Given the description of an element on the screen output the (x, y) to click on. 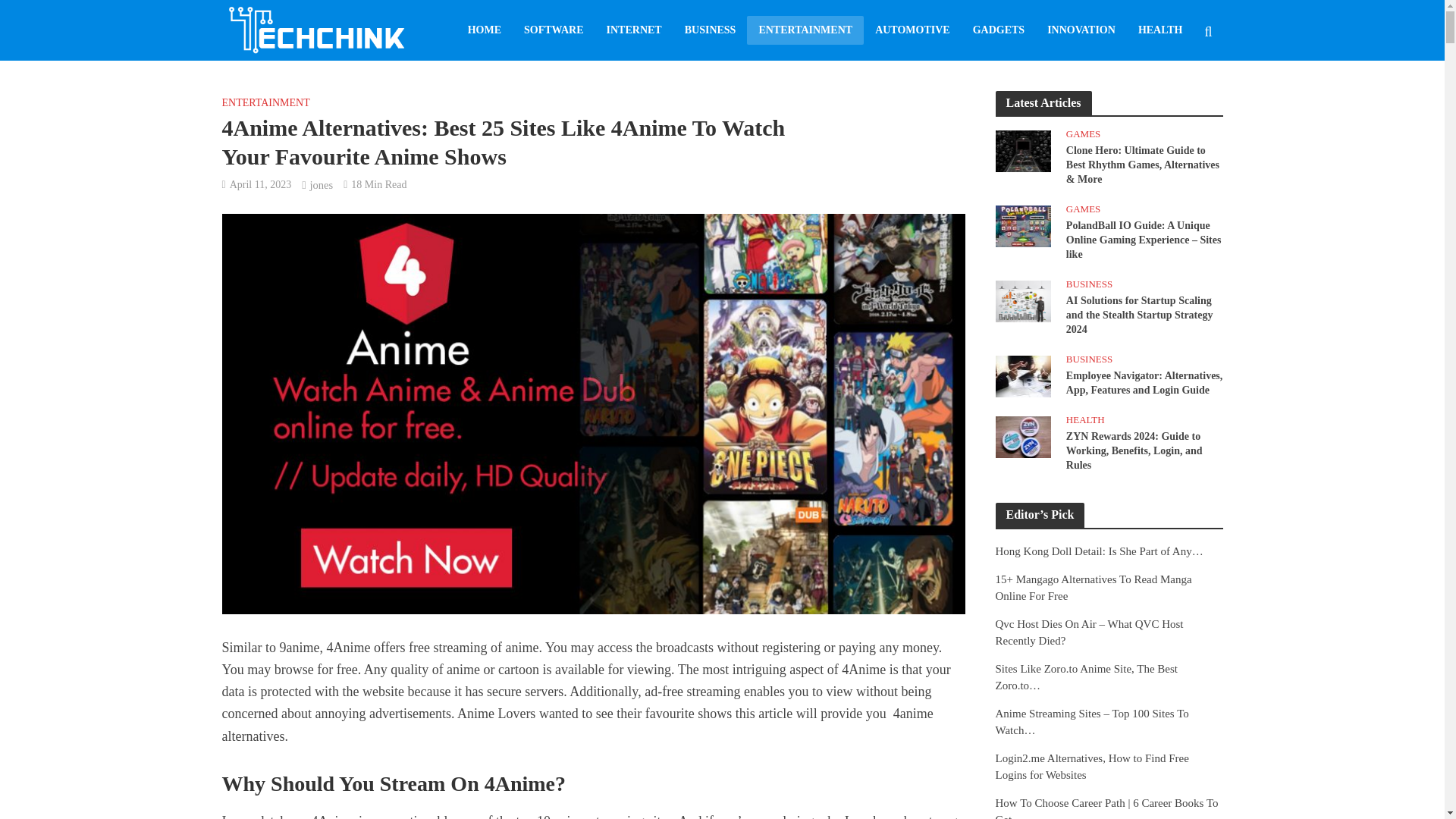
HOME (484, 30)
jones (320, 186)
GADGETS (997, 30)
HEALTH (1159, 30)
SOFTWARE (553, 30)
INTERNET (633, 30)
AUTOMOTIVE (911, 30)
ENTERTAINMENT (264, 104)
